Given the description of an element on the screen output the (x, y) to click on. 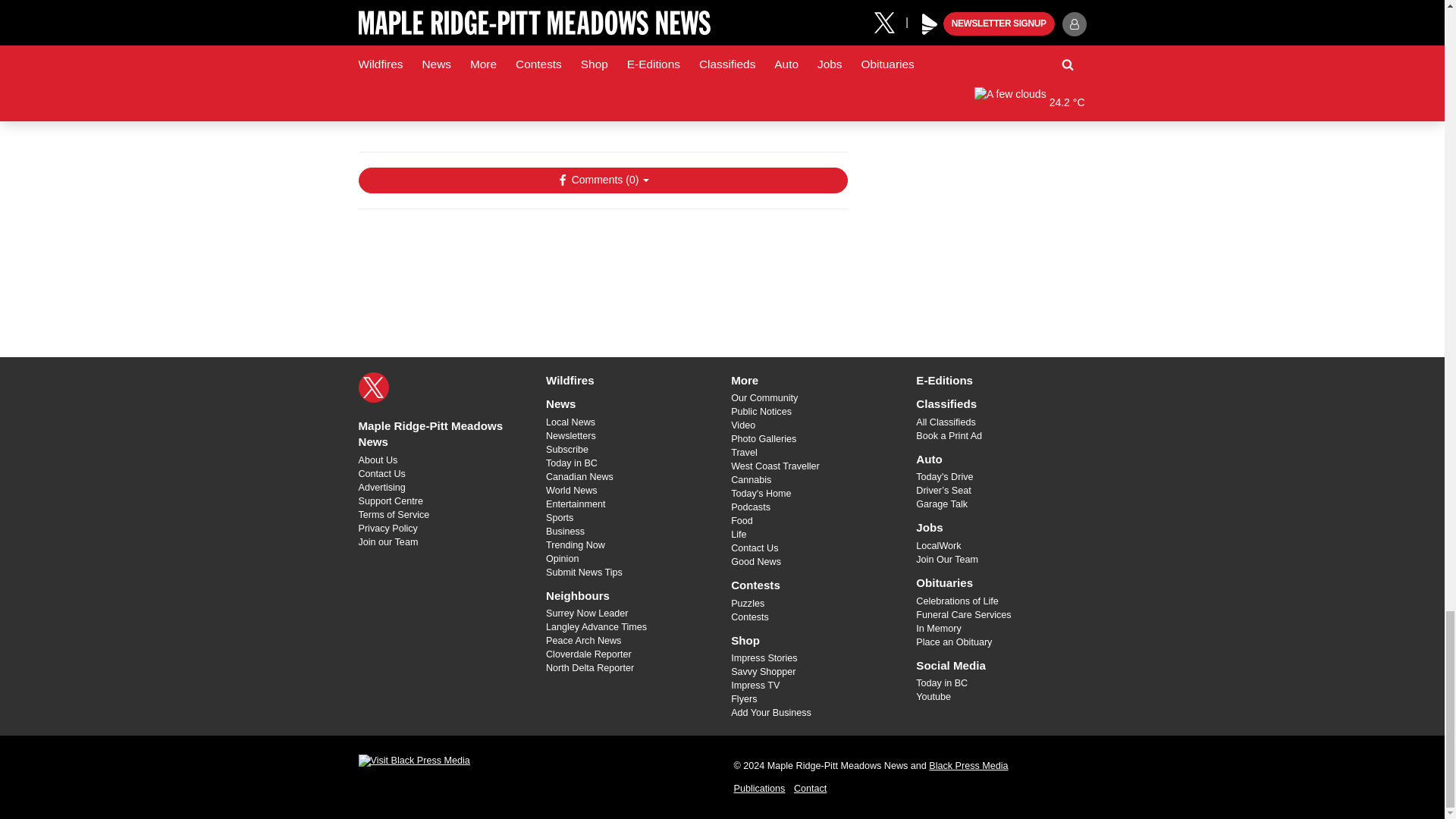
Show Comments (602, 180)
X (373, 387)
